Given the description of an element on the screen output the (x, y) to click on. 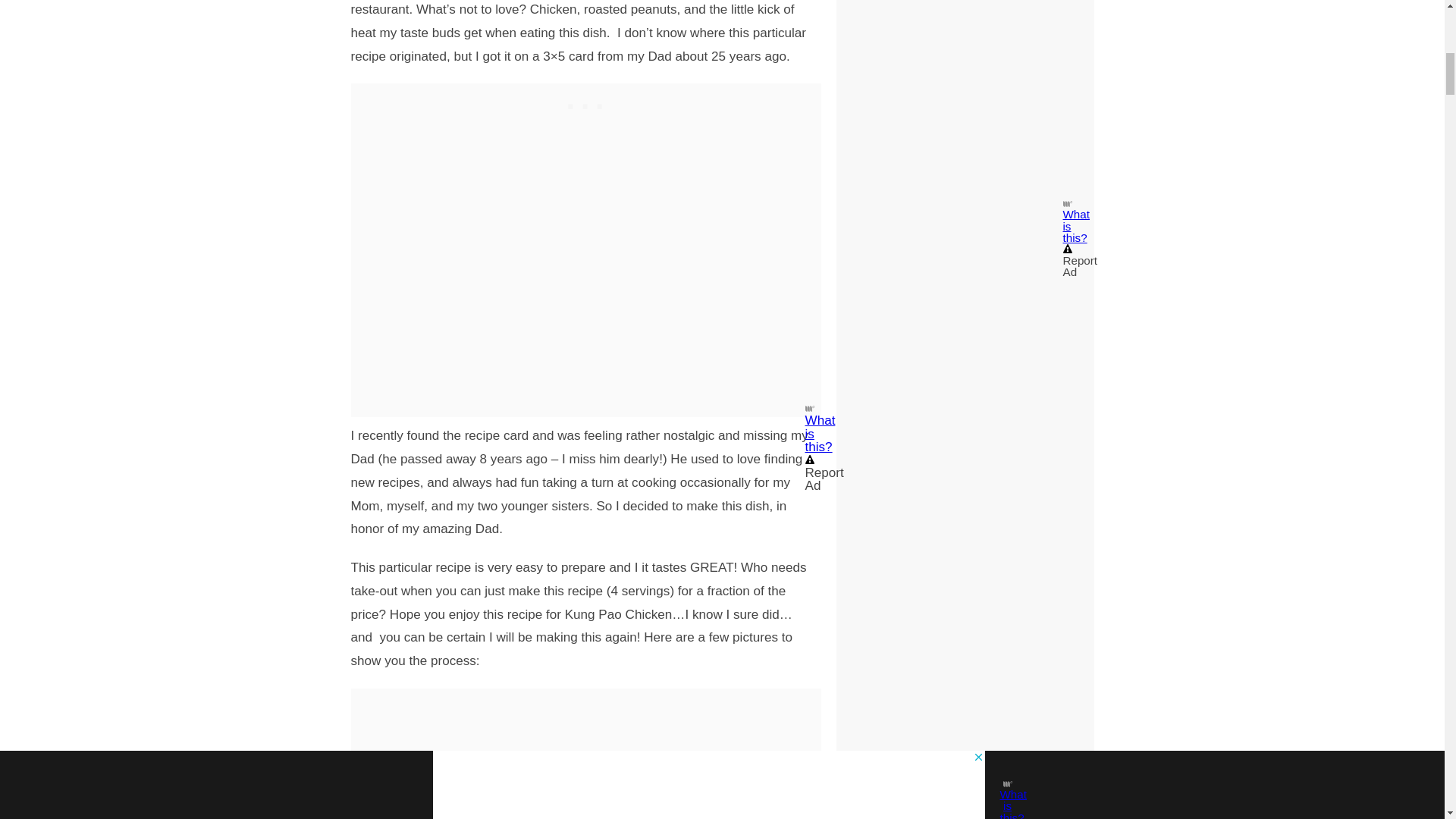
3rd party ad content (585, 102)
3rd party ad content (584, 753)
